Given the description of an element on the screen output the (x, y) to click on. 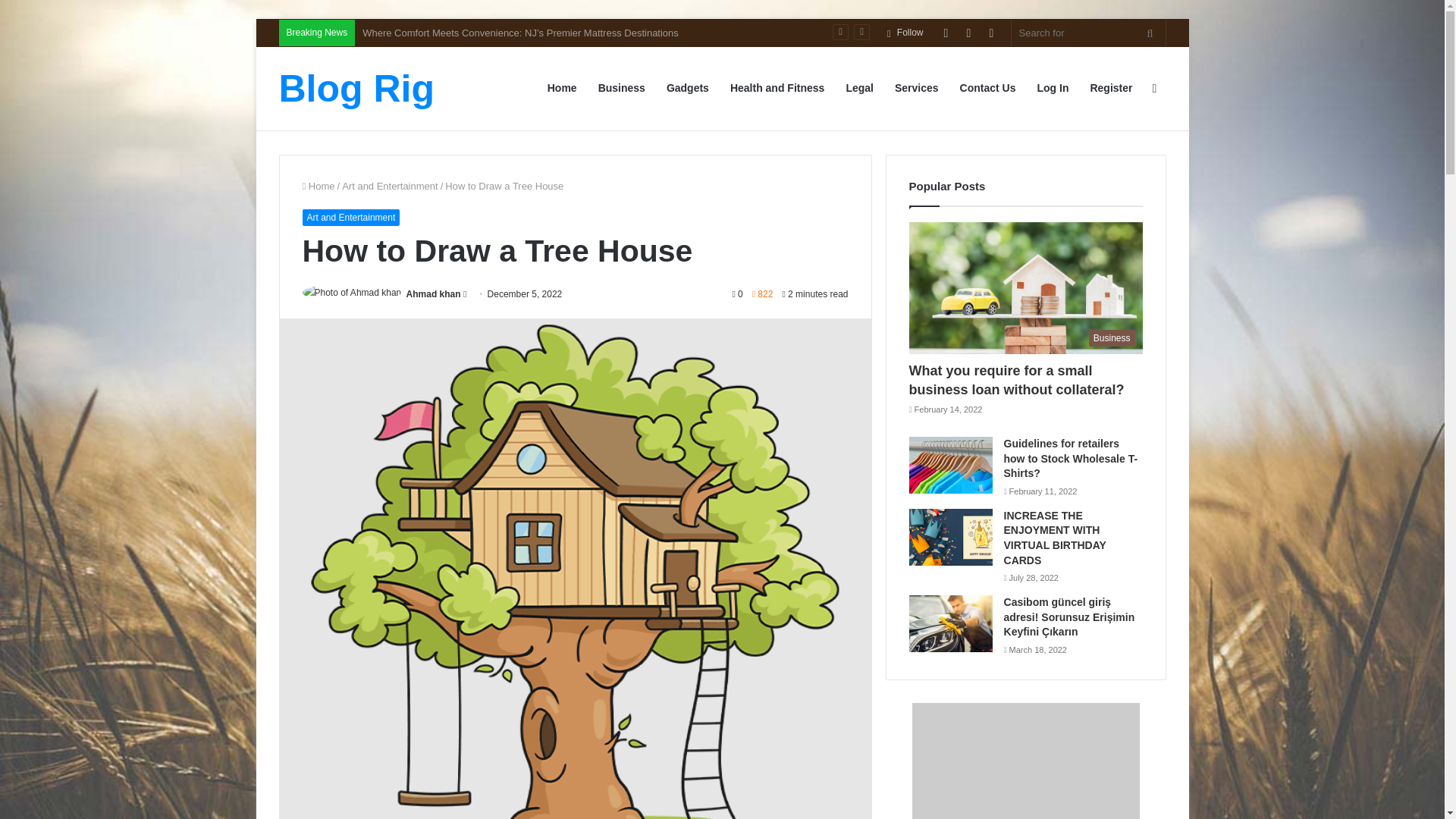
Follow (905, 32)
Home (317, 185)
Health and Fitness (776, 87)
Blog Rig (357, 88)
Contact Us (987, 87)
Ahmad khan (433, 294)
Art and Entertainment (349, 217)
Search for (1149, 32)
Ahmad khan (433, 294)
Blog Rig (357, 88)
Search for (1088, 32)
Art and Entertainment (390, 185)
